Given the description of an element on the screen output the (x, y) to click on. 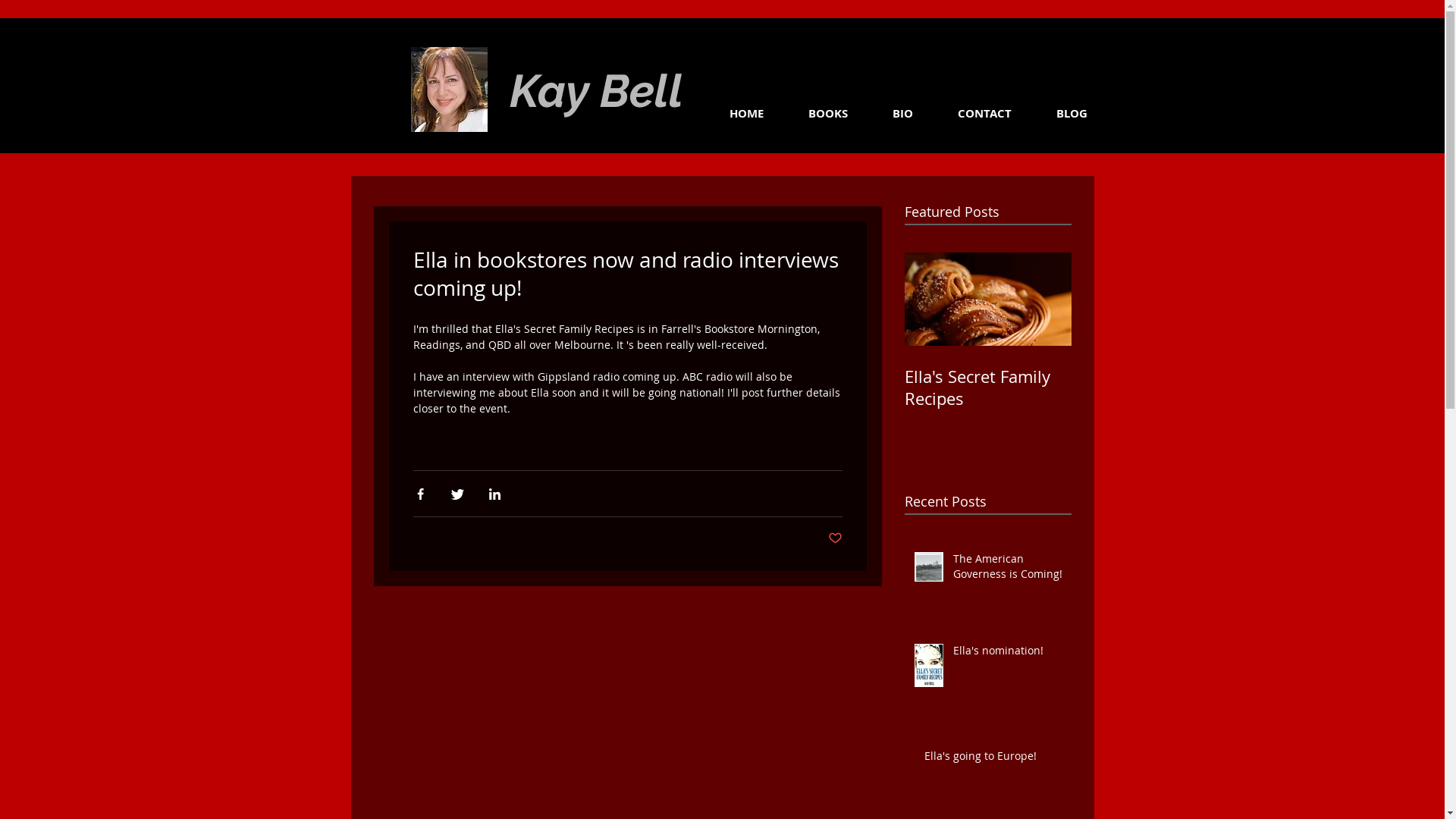
CONTACT Element type: text (969, 113)
Ella's nomination! Element type: text (1006, 653)
Ella's Secret Family Recipes Element type: text (986, 387)
The American Governess is Coming! Element type: text (1006, 568)
Post not marked as liked Element type: text (835, 538)
BOOKS Element type: text (813, 113)
Ella's going to Europe! Element type: text (992, 758)
BLOG Element type: text (1057, 113)
HOME Element type: text (731, 113)
BIO Element type: text (887, 113)
kay 1.jpg Element type: hover (449, 89)
